Given the description of an element on the screen output the (x, y) to click on. 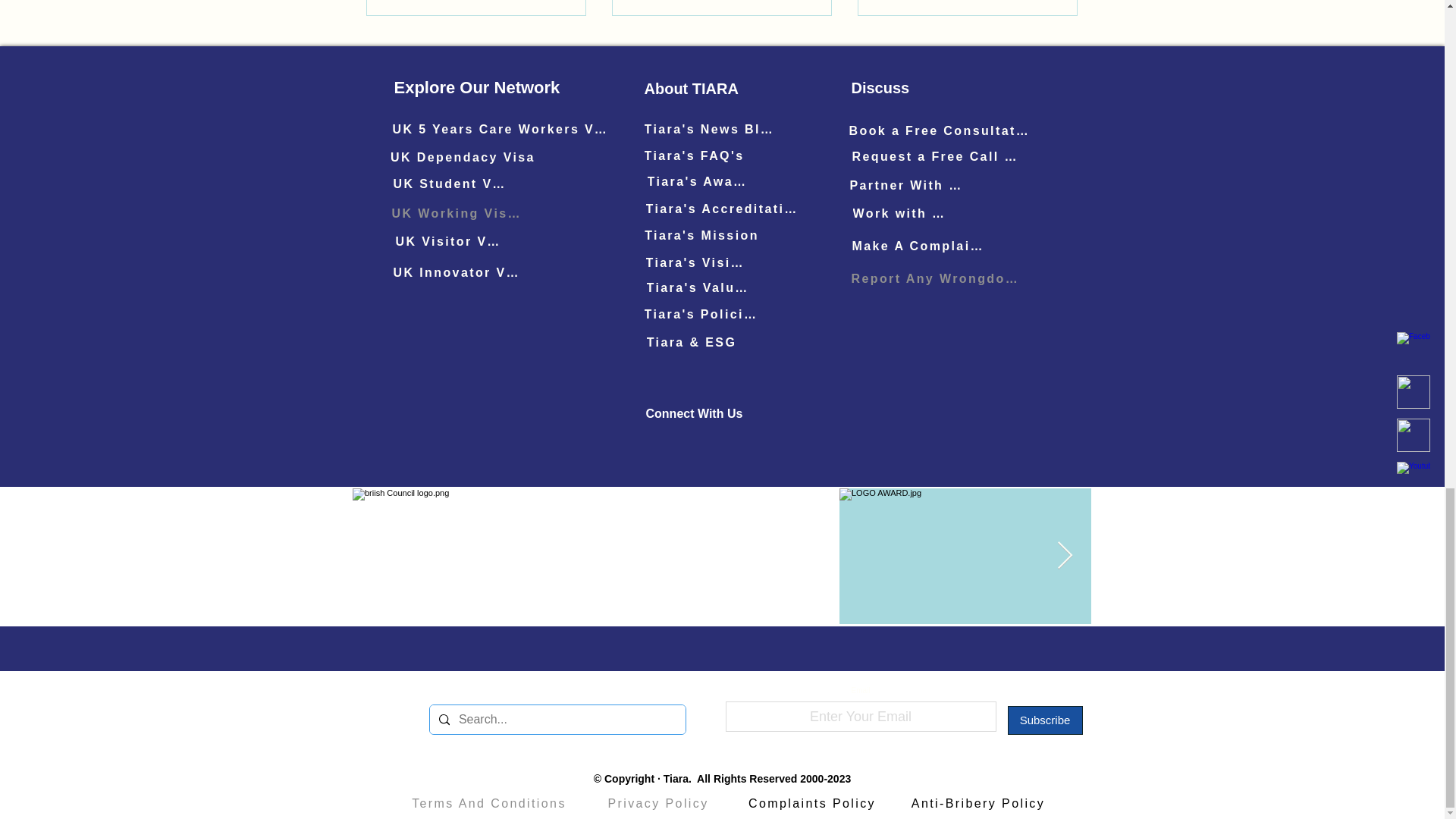
Enter Your Email (860, 716)
